Given the description of an element on the screen output the (x, y) to click on. 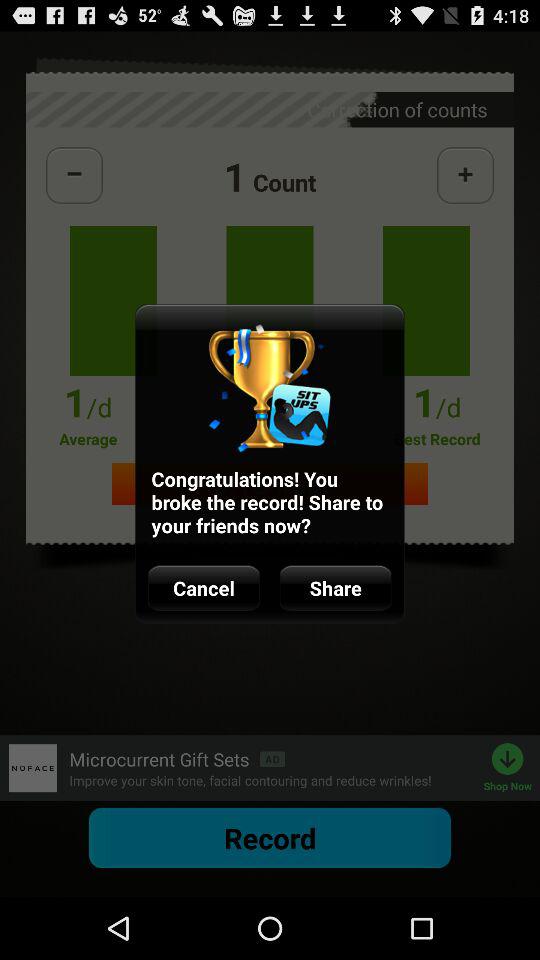
scroll to the cancel icon (203, 588)
